Given the description of an element on the screen output the (x, y) to click on. 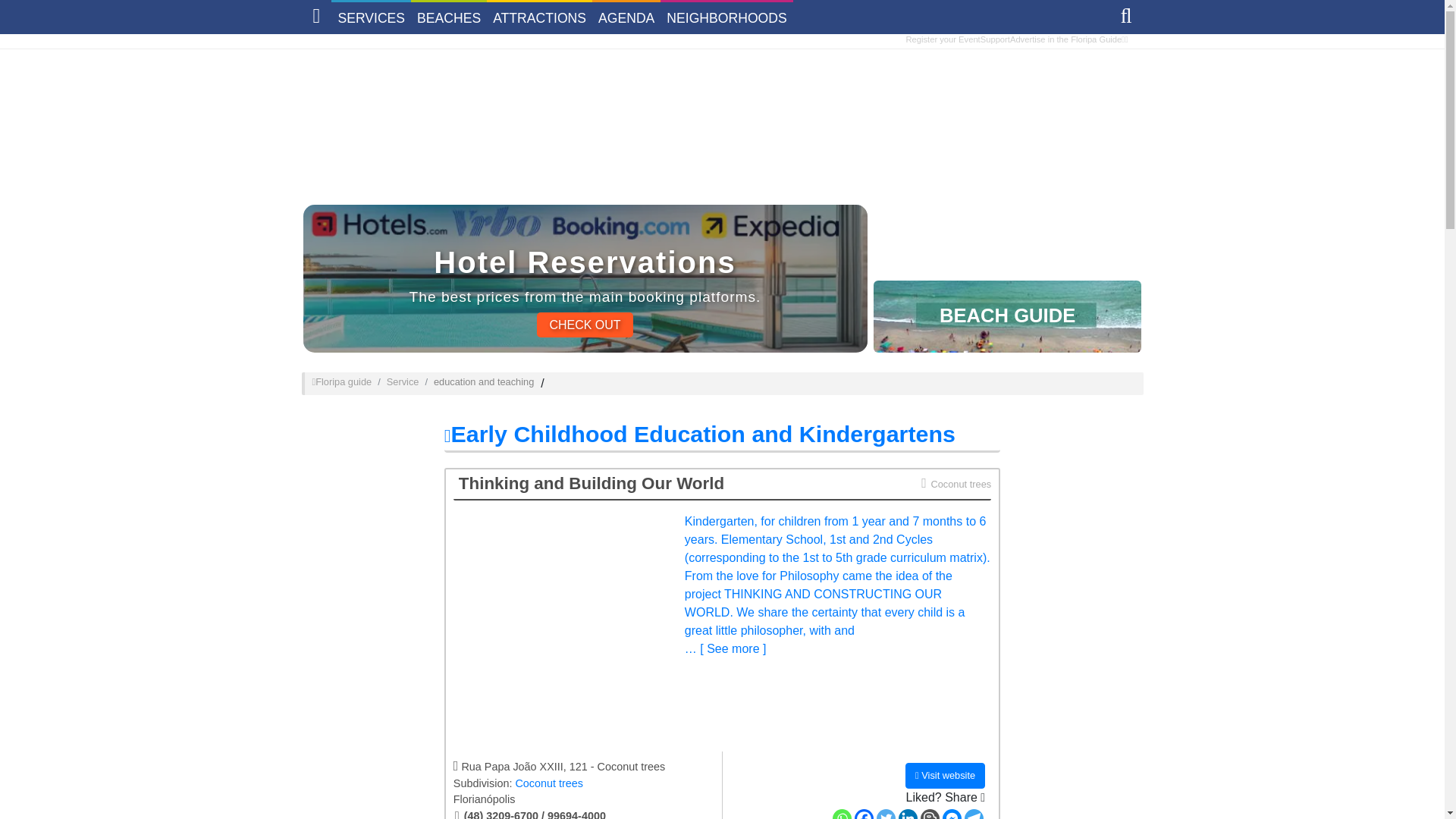
Information about the Coqueiros neighborhood (549, 783)
SERVICES (370, 17)
Support (994, 39)
BEACHES (448, 17)
Fone Pensando e Construindo Nosso Mundo (583, 813)
Visit the website Thinking and Building Our World (562, 626)
Whatsapp (841, 814)
Visit the website Thinking and Building Our World (945, 775)
Facebook (863, 814)
Advertise in the Floripa Guide (1065, 39)
Twitter (885, 814)
LinkedIn (907, 814)
Telegram (973, 814)
Register your Event (942, 39)
Information about coconut trees (955, 483)
